Given the description of an element on the screen output the (x, y) to click on. 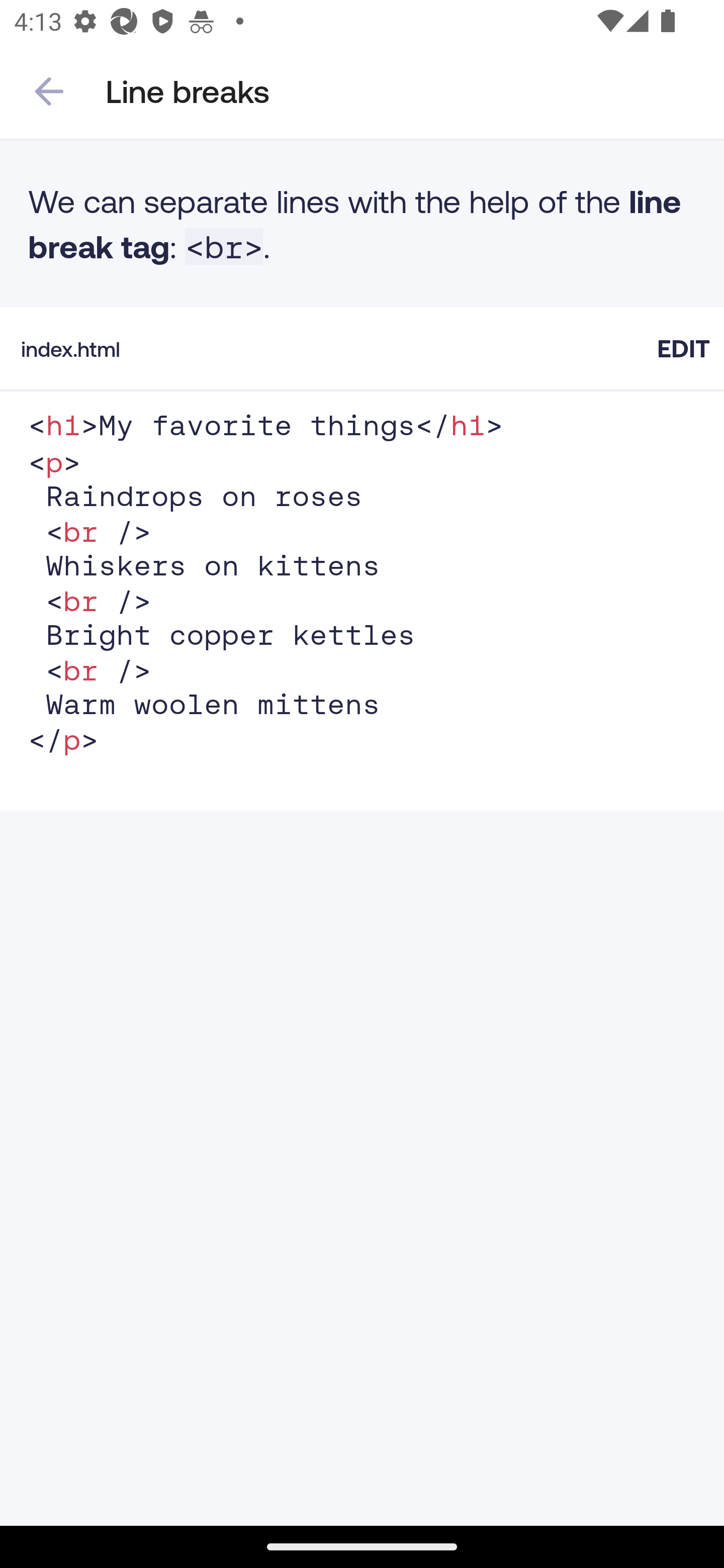
Navigate up (49, 91)
EDIT (683, 347)
